Given the description of an element on the screen output the (x, y) to click on. 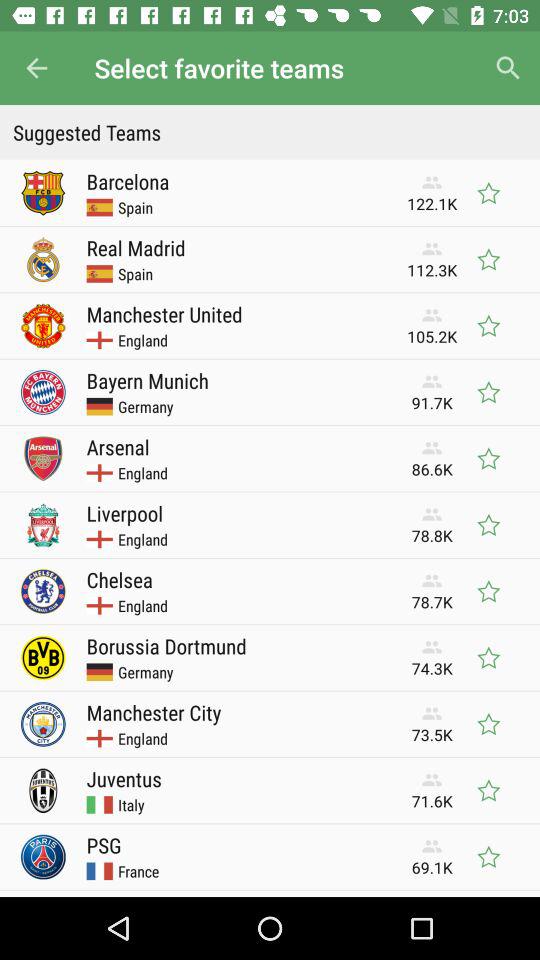
swipe until borussia dortmund icon (166, 645)
